Given the description of an element on the screen output the (x, y) to click on. 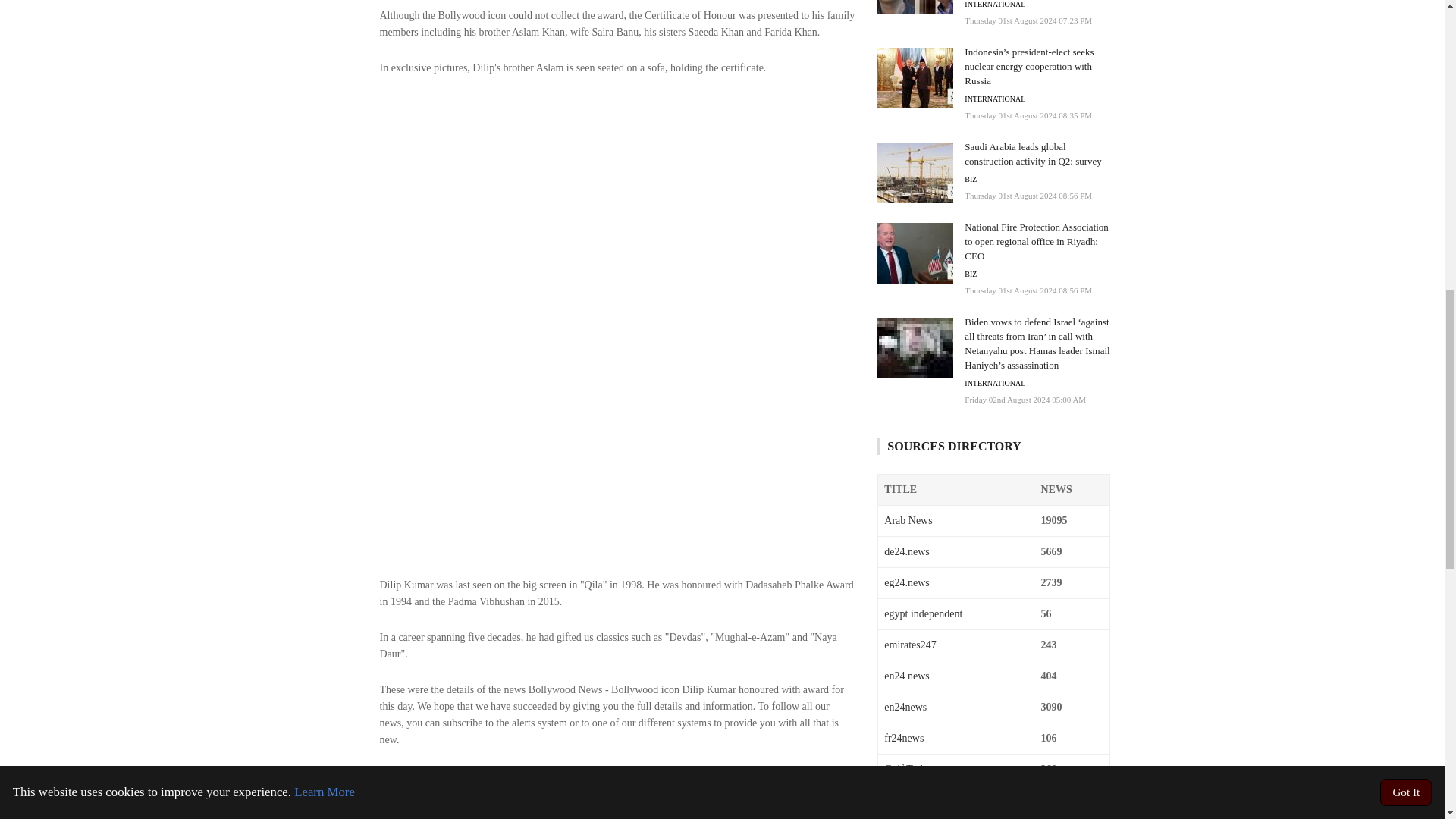
AlKhaleej Today (485, 789)
Khaleej Times (762, 772)
